Given the description of an element on the screen output the (x, y) to click on. 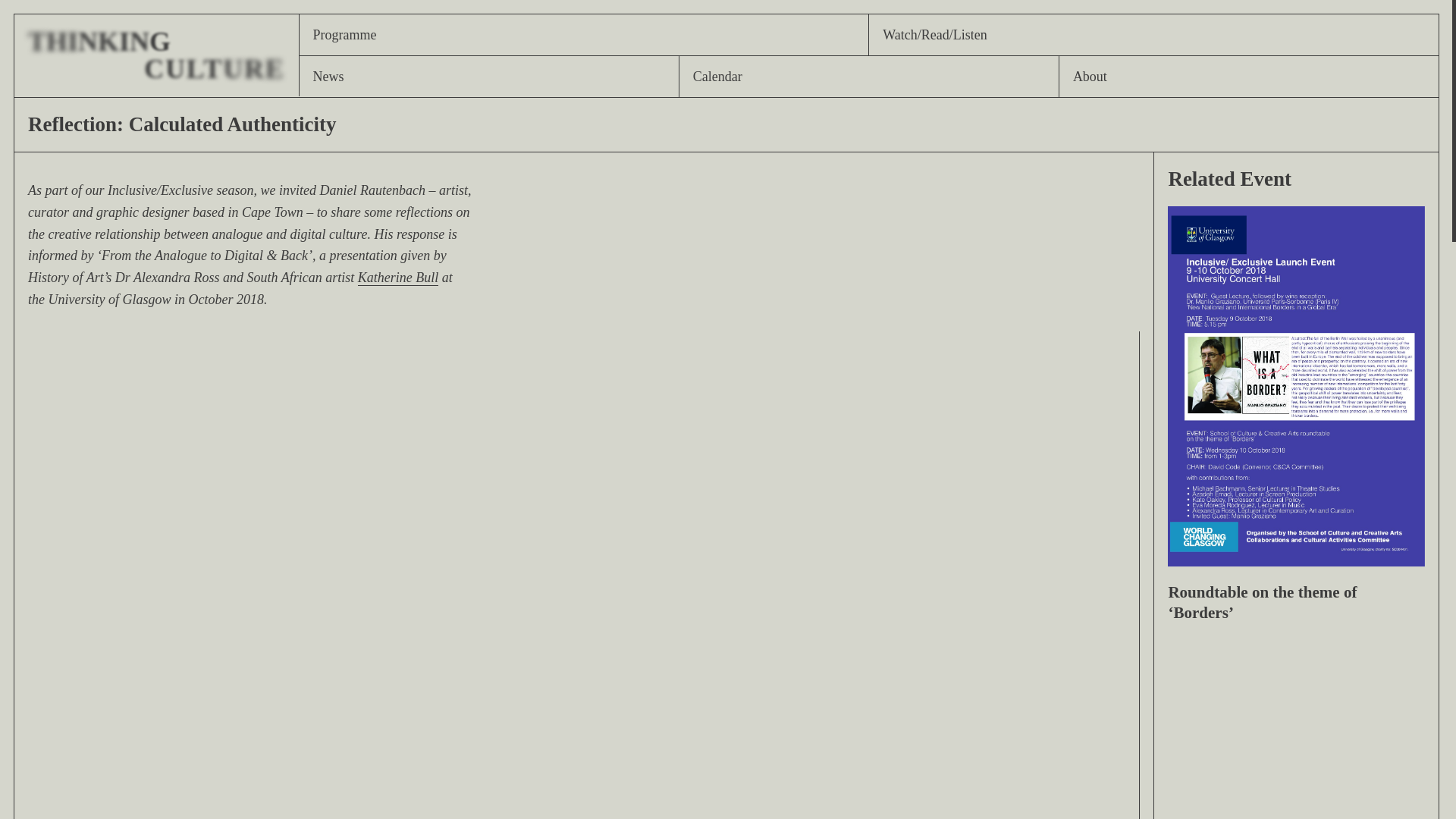
News (488, 76)
Katherine Bull (398, 277)
About (1248, 76)
Calendar (156, 55)
Programme (868, 76)
